Given the description of an element on the screen output the (x, y) to click on. 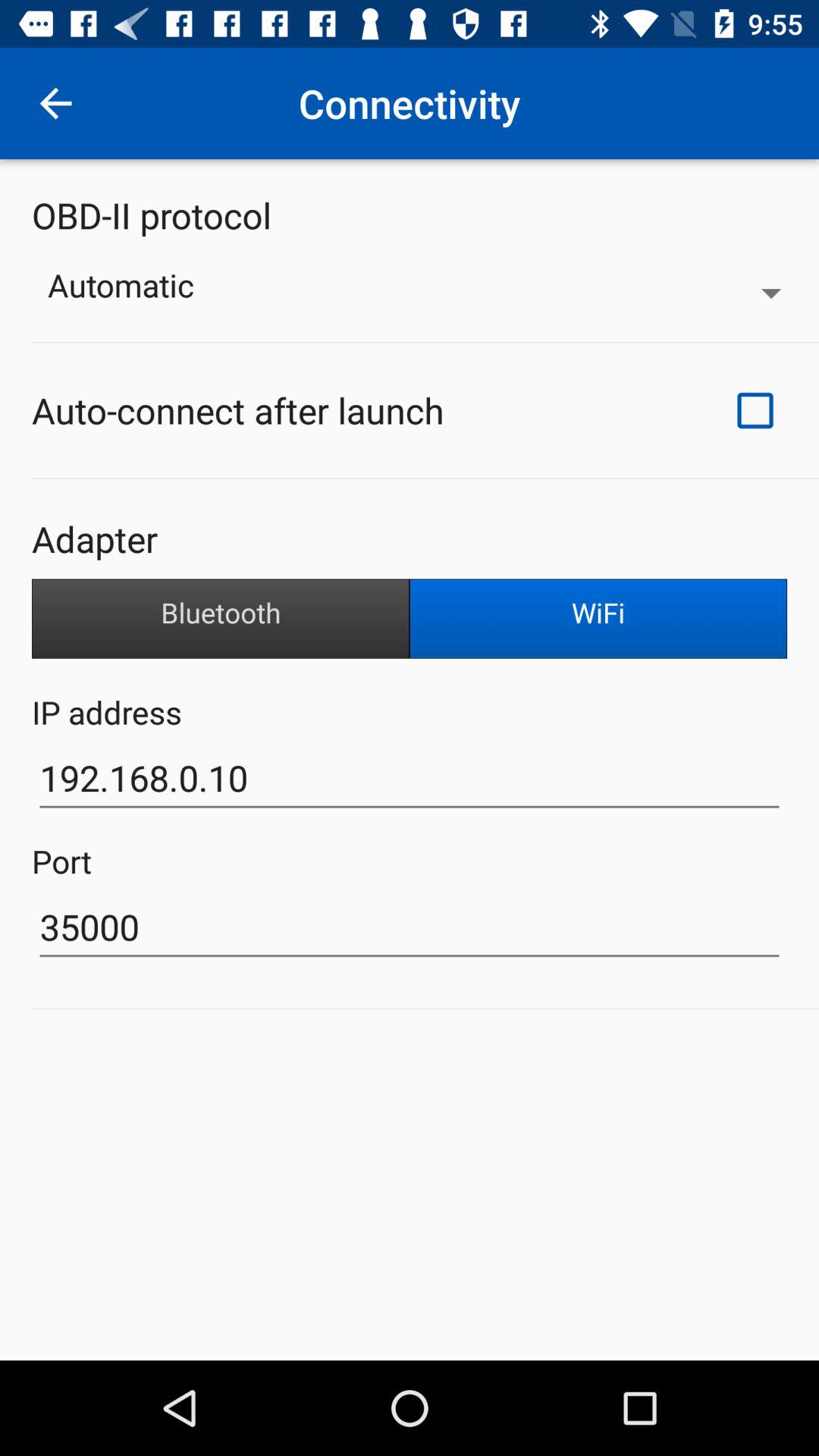
click the item above obd-ii protocol (55, 103)
